Given the description of an element on the screen output the (x, y) to click on. 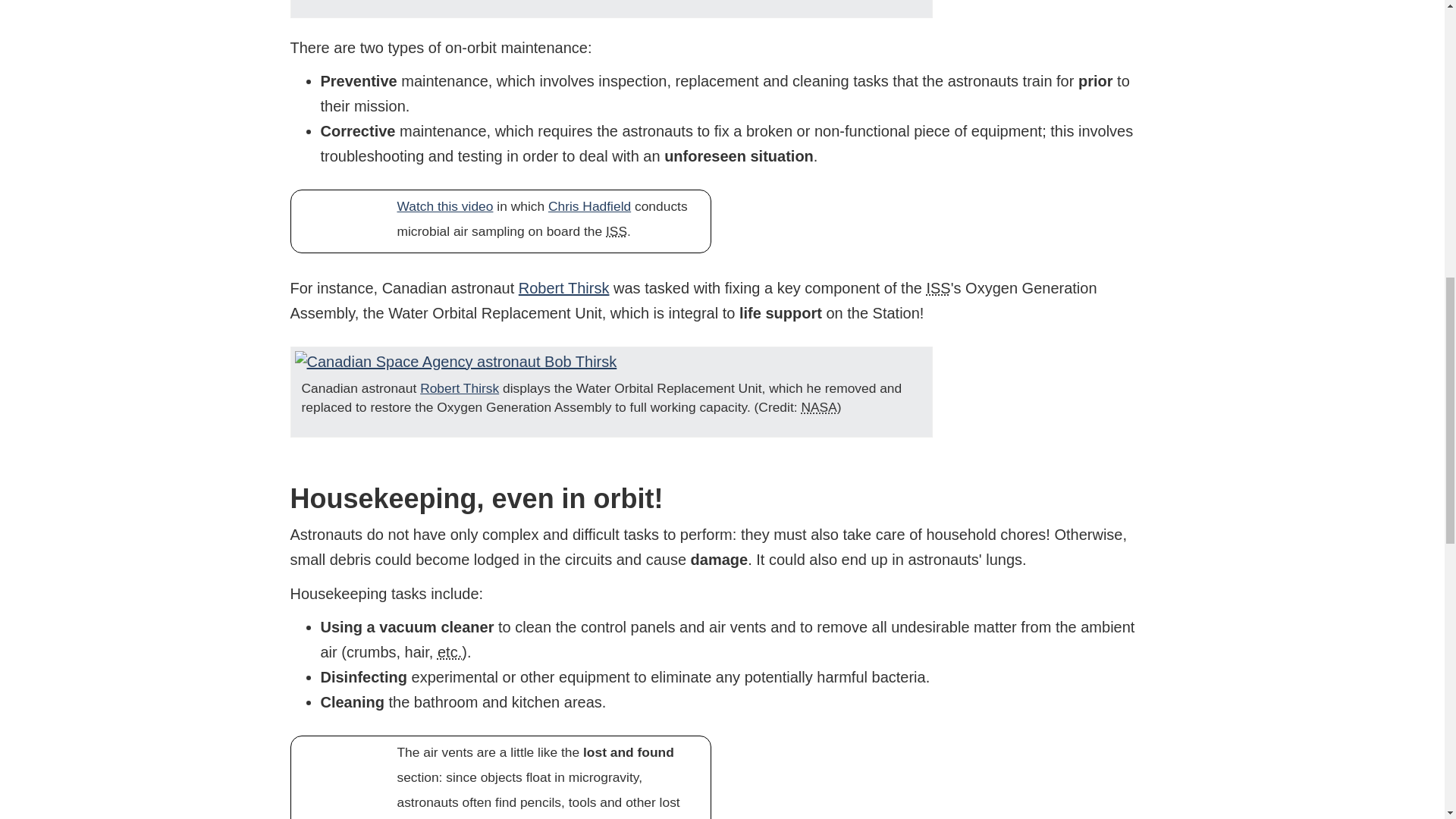
Robert Thirsk (459, 387)
International Space Station (938, 288)
Chris Hadfield (589, 206)
et cetera (449, 651)
Watch this video (445, 206)
National Aeronautics and Space Administration (817, 406)
International Space Station (616, 231)
Robert Thirsk (564, 288)
